Given the description of an element on the screen output the (x, y) to click on. 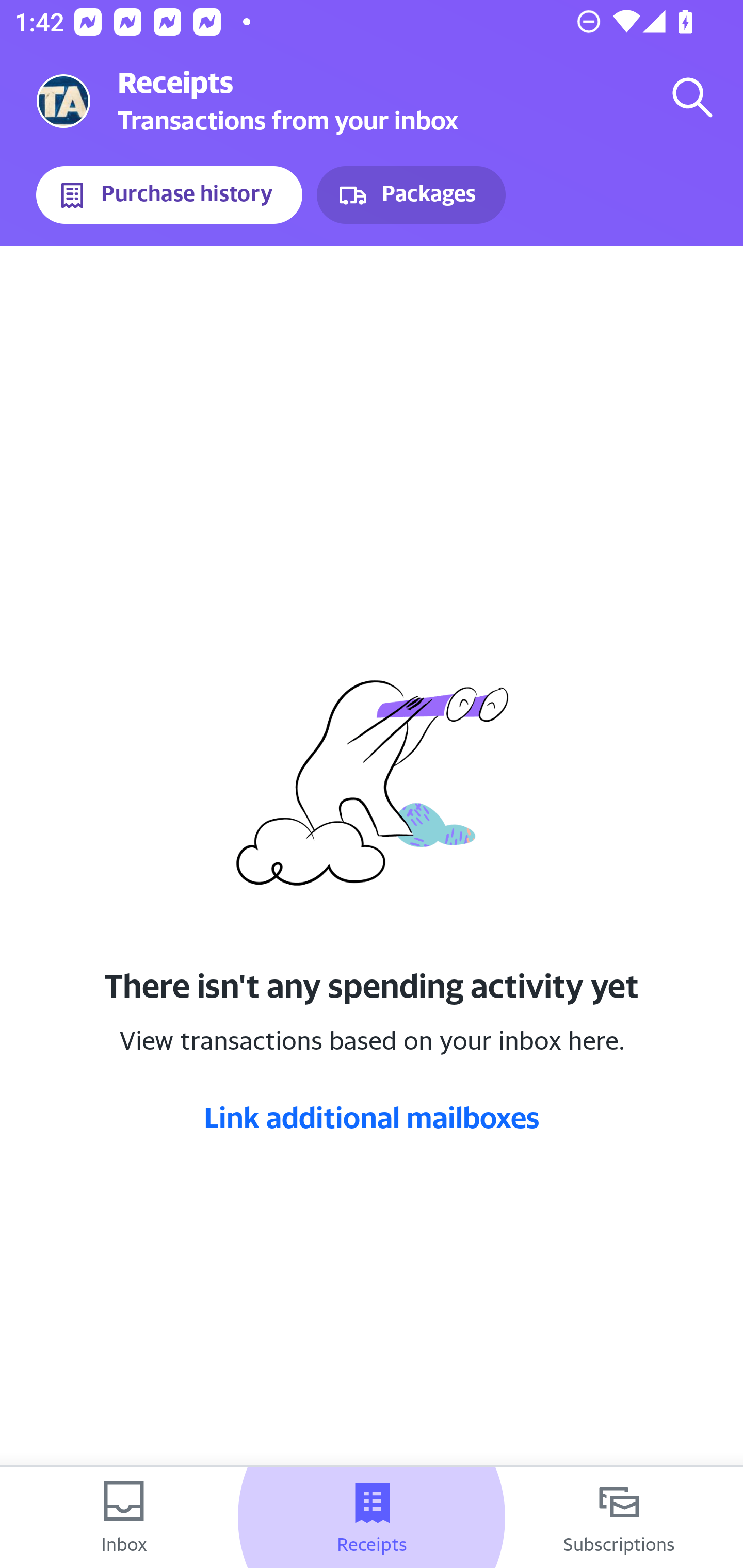
Search mail (692, 97)
Packages (410, 195)
Link additional mailboxes (371, 1117)
Inbox (123, 1517)
Receipts (371, 1517)
Subscriptions (619, 1517)
